Given the description of an element on the screen output the (x, y) to click on. 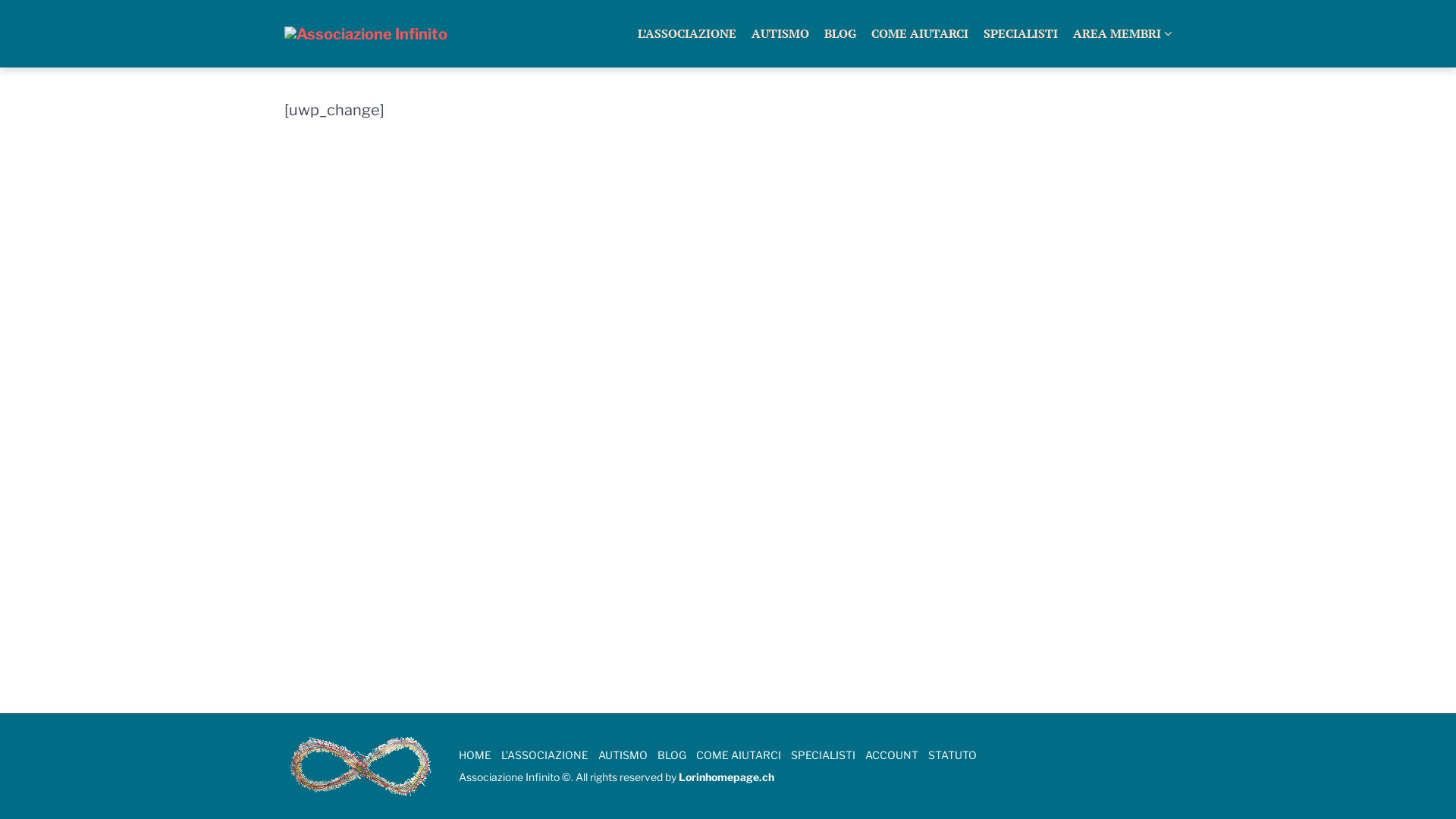
BLOG Element type: text (671, 754)
COME AIUTARCI Element type: text (738, 754)
ACCOUNT Element type: text (891, 754)
AUTISMO Element type: text (622, 754)
SPECIALISTI Element type: text (1020, 33)
AREA MEMBRI Element type: text (1122, 33)
SPECIALISTI Element type: text (822, 754)
AUTISMO Element type: text (780, 33)
COME AIUTARCI Element type: text (919, 33)
STATUTO Element type: text (952, 754)
Lorinhomepage.ch Element type: text (726, 776)
BLOG Element type: text (840, 33)
HOME Element type: text (474, 754)
